Given the description of an element on the screen output the (x, y) to click on. 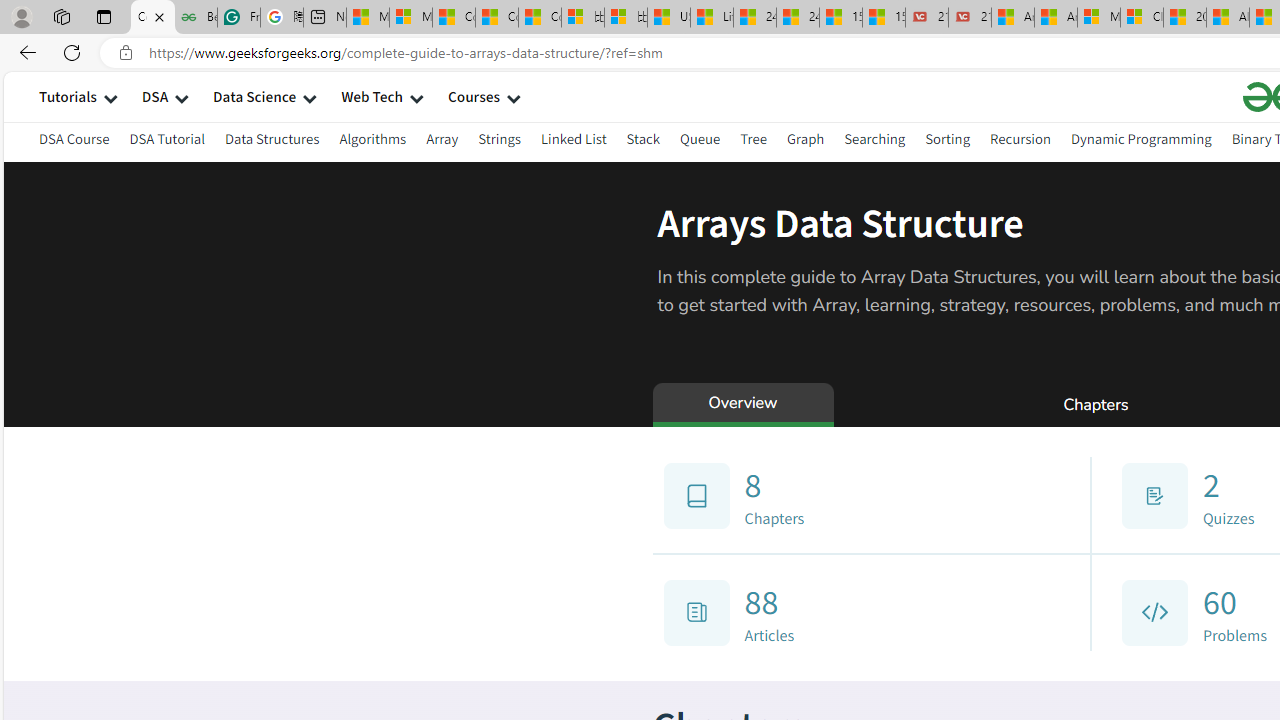
Dynamic Programming (1140, 142)
Lifestyle - MSN (712, 17)
Web Tech (372, 96)
Cloud Computing Services | Microsoft Azure (1142, 17)
DSA Tutorial (167, 142)
Data Science (254, 96)
Tree (752, 142)
Strings (499, 138)
DSA (154, 96)
Linked List (572, 138)
